Given the description of an element on the screen output the (x, y) to click on. 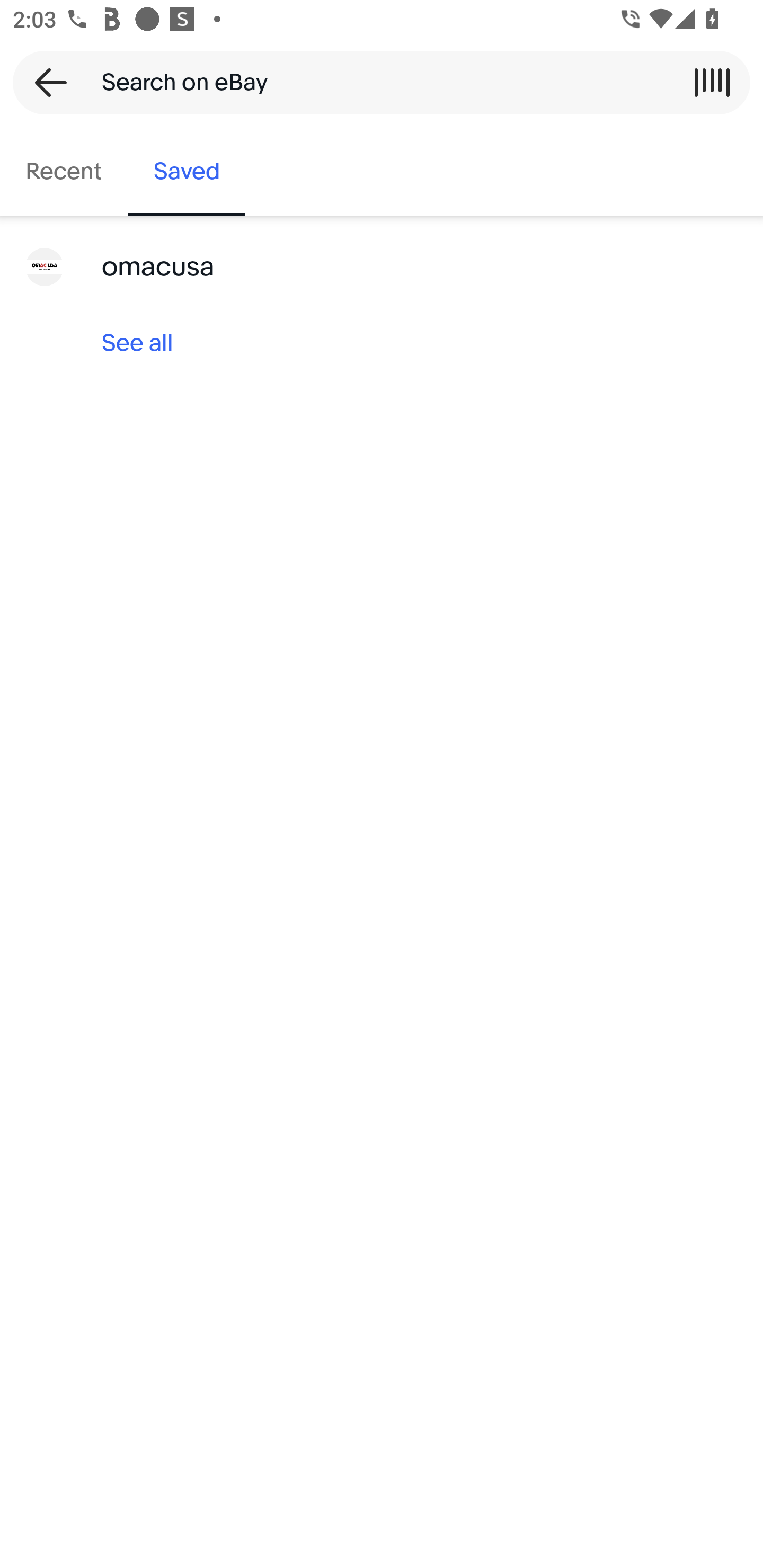
Back (44, 82)
Scan a barcode (711, 82)
Search on eBay (375, 82)
Recent, tab 1 of 2 Recent (63, 171)
User Search omacusa: omacusa (381, 266)
See all See all members (381, 343)
